Given the description of an element on the screen output the (x, y) to click on. 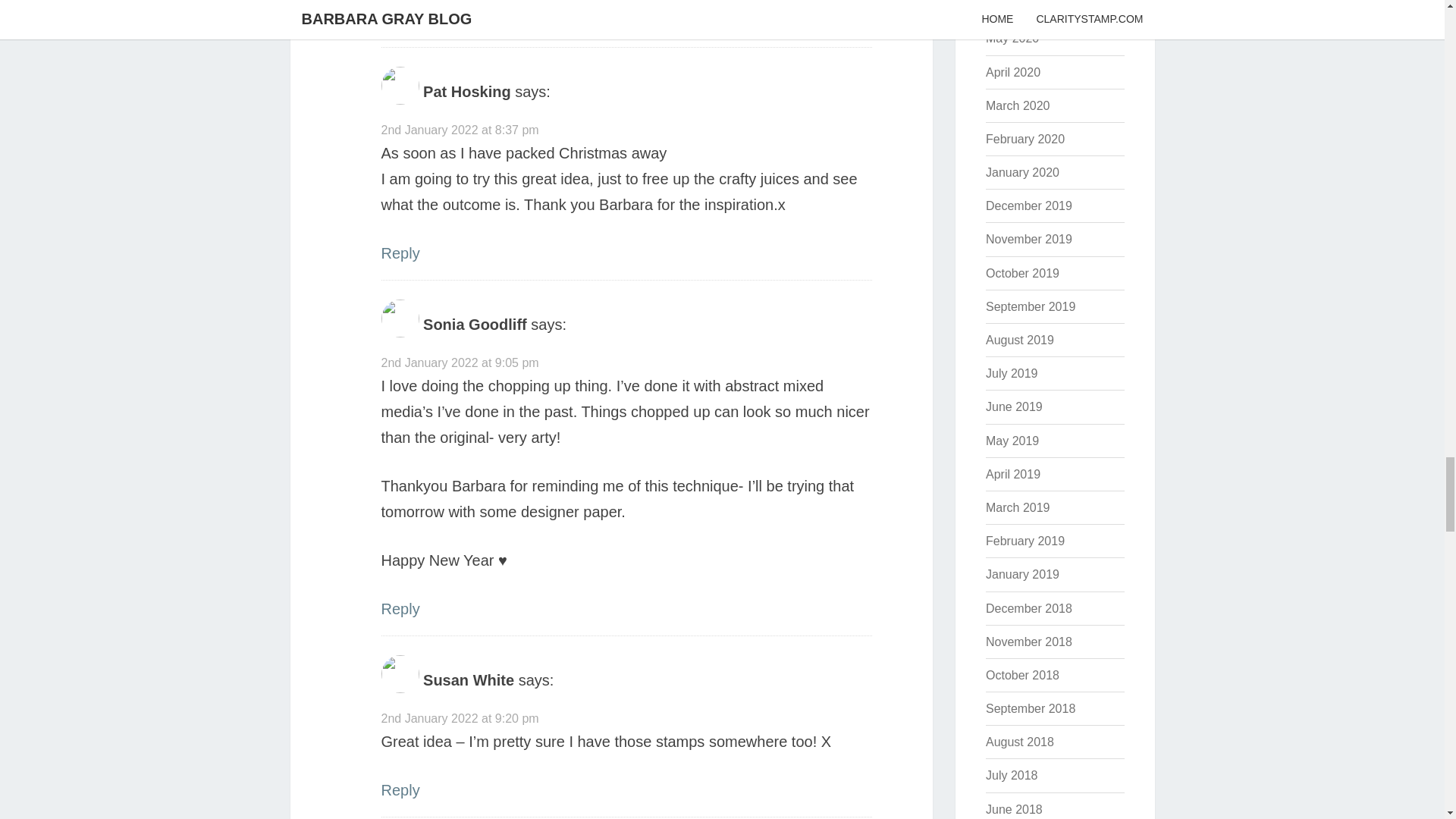
Reply (399, 20)
Reply (399, 790)
Reply (399, 252)
2nd January 2022 at 8:37 pm (459, 129)
2nd January 2022 at 9:05 pm (459, 362)
Reply (399, 608)
2nd January 2022 at 9:20 pm (459, 717)
